Given the description of an element on the screen output the (x, y) to click on. 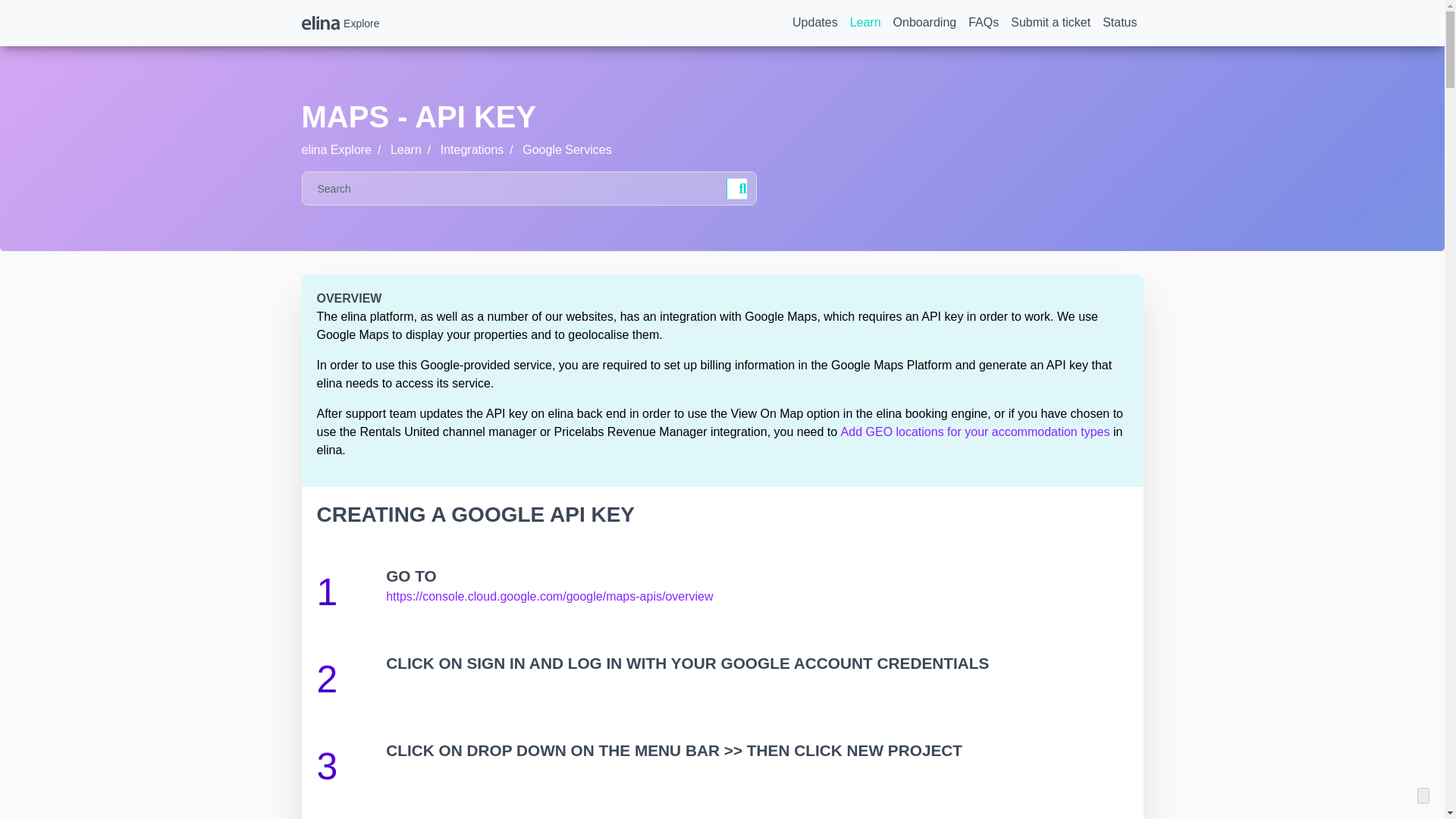
Updates (815, 22)
Add GEO locations for your accommodation types (975, 431)
elina Explore (336, 149)
Managing your Properties In elina (975, 431)
Onboarding (924, 22)
Submit a ticket (1050, 22)
Google Services (566, 149)
Learn (406, 149)
FAQs (983, 22)
Learn (865, 22)
Integrations (472, 149)
Explore (340, 22)
Status (1119, 22)
